Given the description of an element on the screen output the (x, y) to click on. 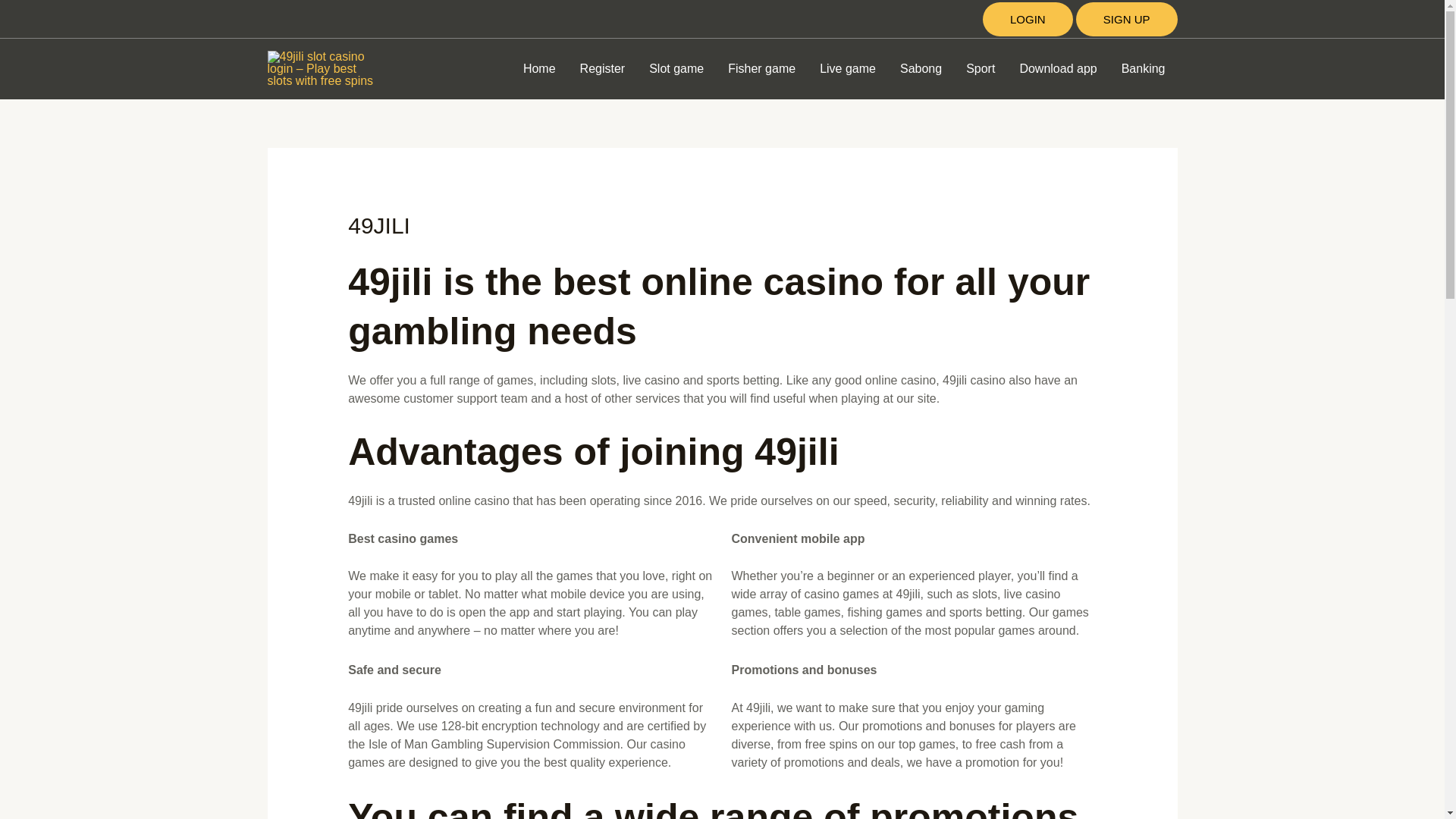
LOGIN (1027, 18)
Sport (980, 68)
Download app (1057, 68)
SIGN UP (1126, 18)
Banking (1143, 68)
Home (539, 68)
Sabong (920, 68)
Register (602, 68)
Live game (848, 68)
Fisher game (762, 68)
